Given the description of an element on the screen output the (x, y) to click on. 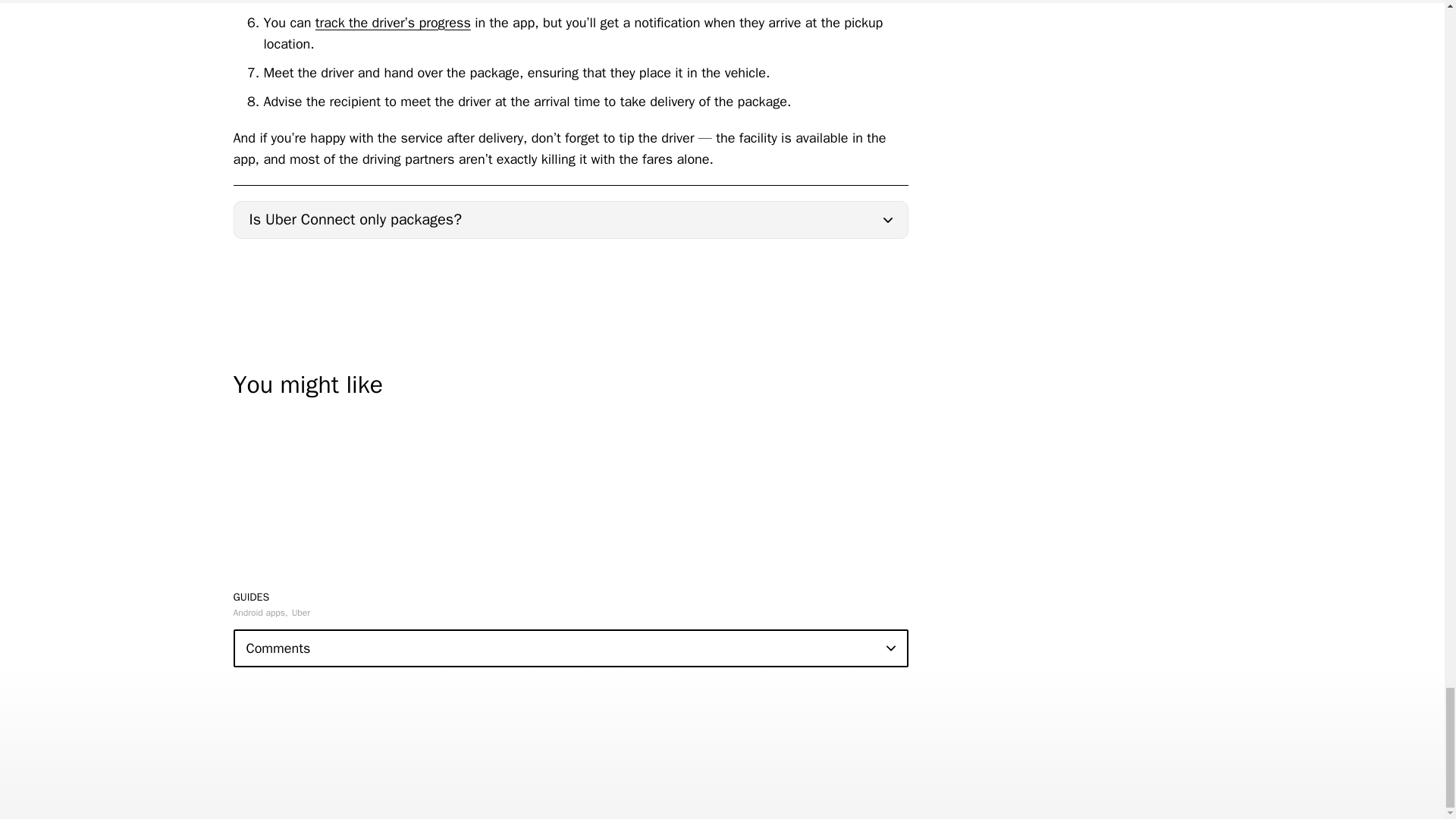
GUIDES (250, 596)
Comments (570, 648)
Is Uber Connect only packages? (570, 219)
Uber (301, 612)
Android apps (260, 612)
